Given the description of an element on the screen output the (x, y) to click on. 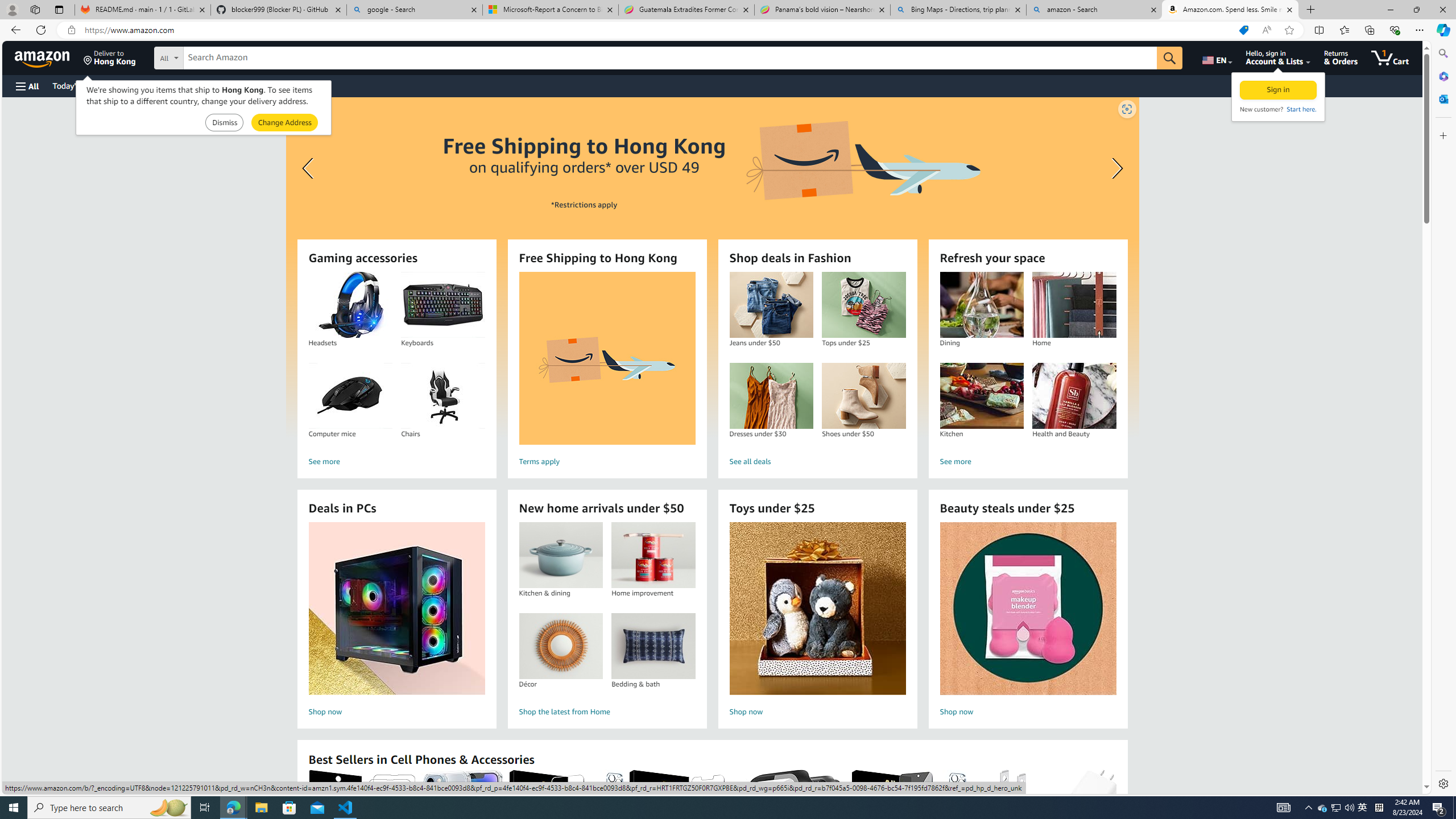
Tops under $25 (863, 304)
Registry (205, 85)
Skip to main content (48, 56)
Headsets (350, 304)
Jeans under $50 (770, 304)
Search in (210, 56)
Keyboards (442, 304)
Start here. (1300, 108)
Class: a-carousel-card (711, 267)
Dresses under $30 (770, 395)
